Given the description of an element on the screen output the (x, y) to click on. 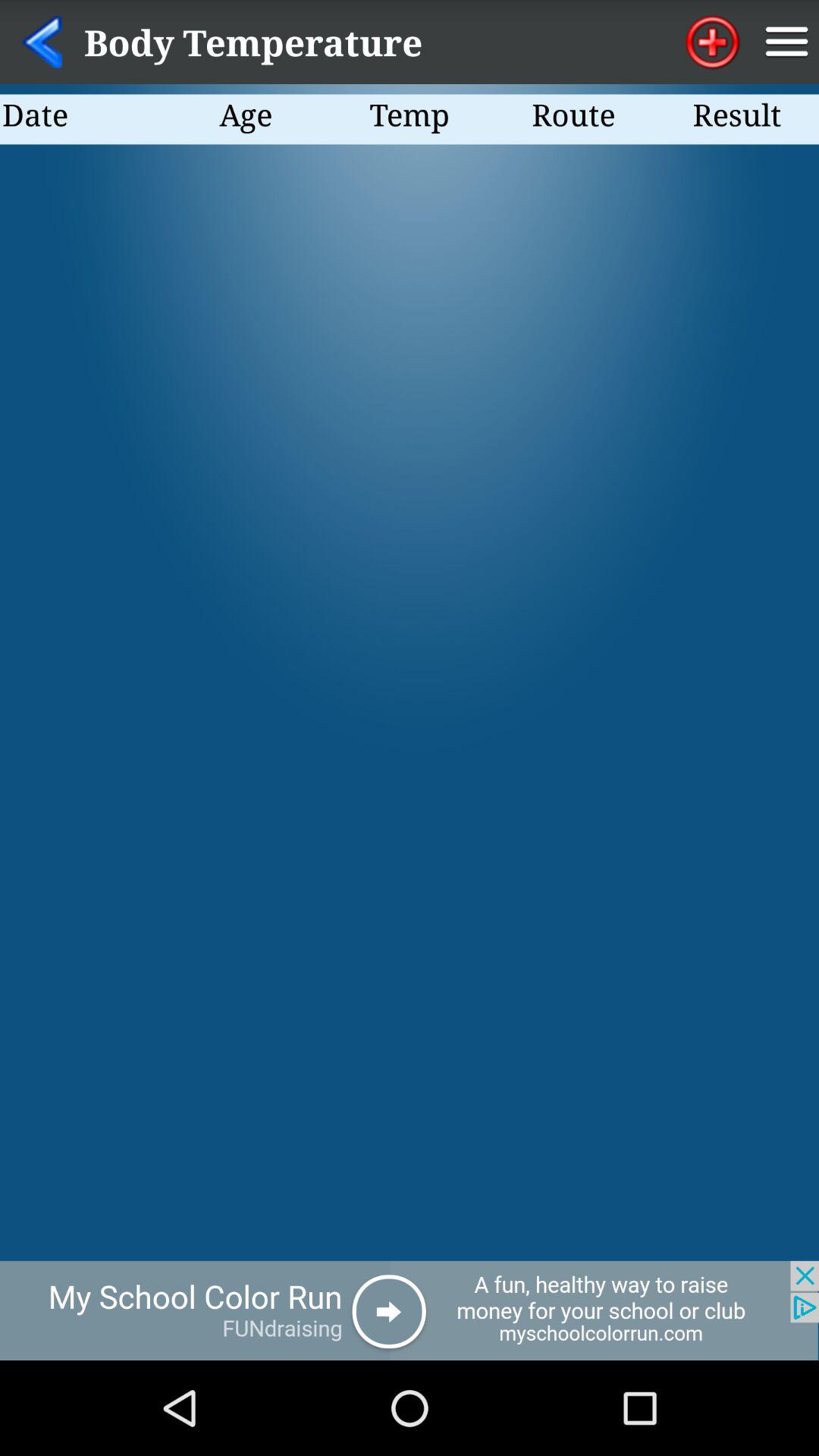
go to notification (786, 41)
